Given the description of an element on the screen output the (x, y) to click on. 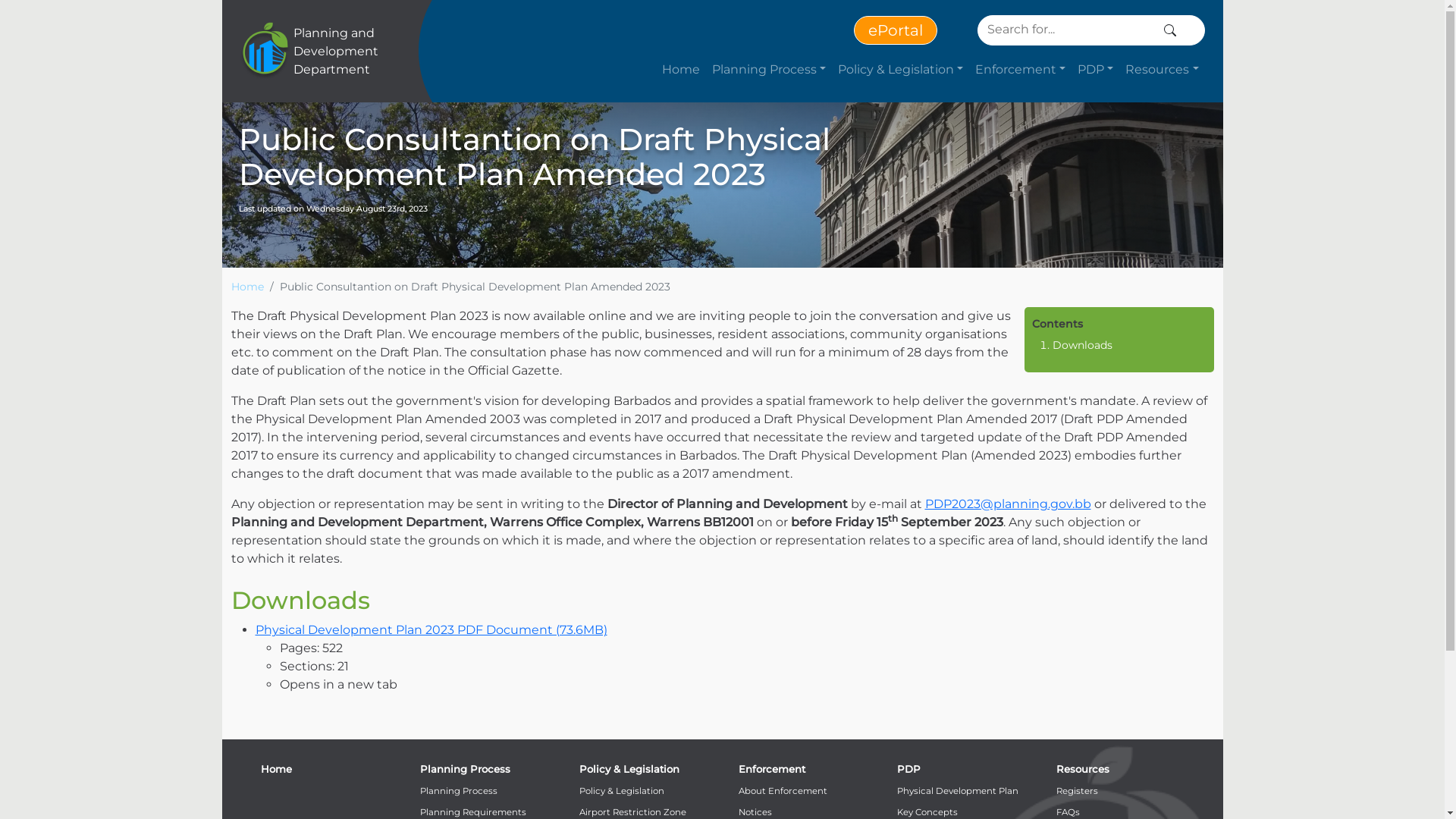
Planning Requirements Element type: text (473, 811)
6 Element type: text (578, 629)
MB) Element type: text (594, 629)
PDP2023@planning.gov.bb Element type: text (1008, 503)
Enforcement Element type: text (771, 768)
Resources Element type: text (1082, 768)
Notices Element type: text (754, 811)
FAQs Element type: text (1067, 811)
Policy & Legislation Element type: text (621, 790)
Downloads Element type: text (1082, 344)
PDP Element type: text (908, 768)
Home Element type: text (275, 768)
Registers Element type: text (1077, 790)
Airport Restriction Zone Element type: text (632, 811)
PDP Element type: text (1095, 69)
Physical Development Plan Element type: text (957, 790)
Enforcement Element type: text (1020, 69)
Home Element type: text (246, 286)
Resources Element type: text (1161, 69)
Home Element type: text (680, 69)
ePortal Element type: text (895, 29)
Planning Process Element type: text (465, 768)
Policy & Legislation Element type: text (900, 69)
Physical Development Plan 2023 PDF Document (73. Element type: text (414, 629)
Policy & Legislation Element type: text (629, 768)
About Enforcement Element type: text (782, 790)
Planning Process Element type: text (768, 69)
Planning Process Element type: text (458, 790)
Key Concepts Element type: text (927, 811)
